Given the description of an element on the screen output the (x, y) to click on. 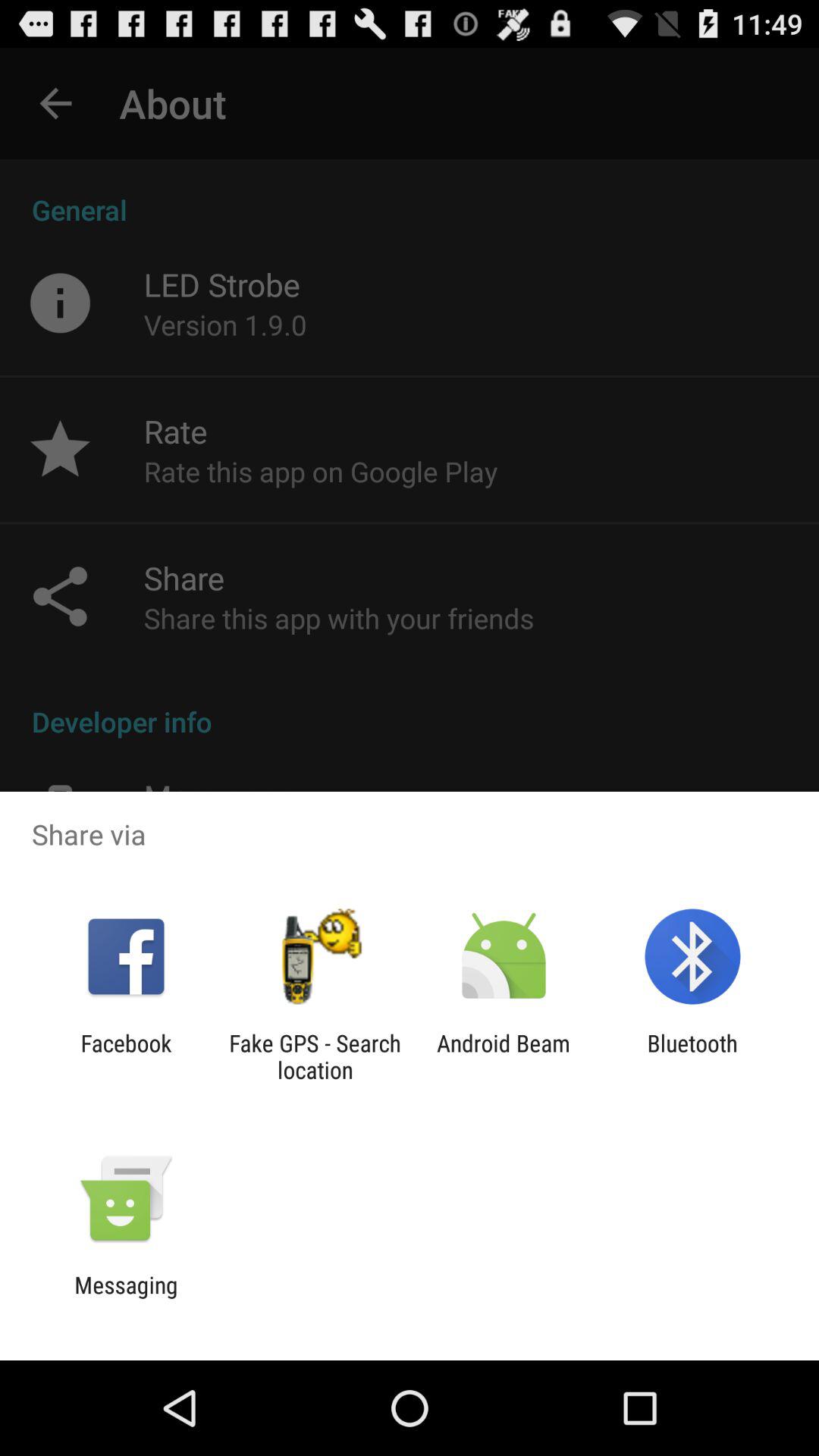
launch app to the right of the facebook icon (314, 1056)
